Given the description of an element on the screen output the (x, y) to click on. 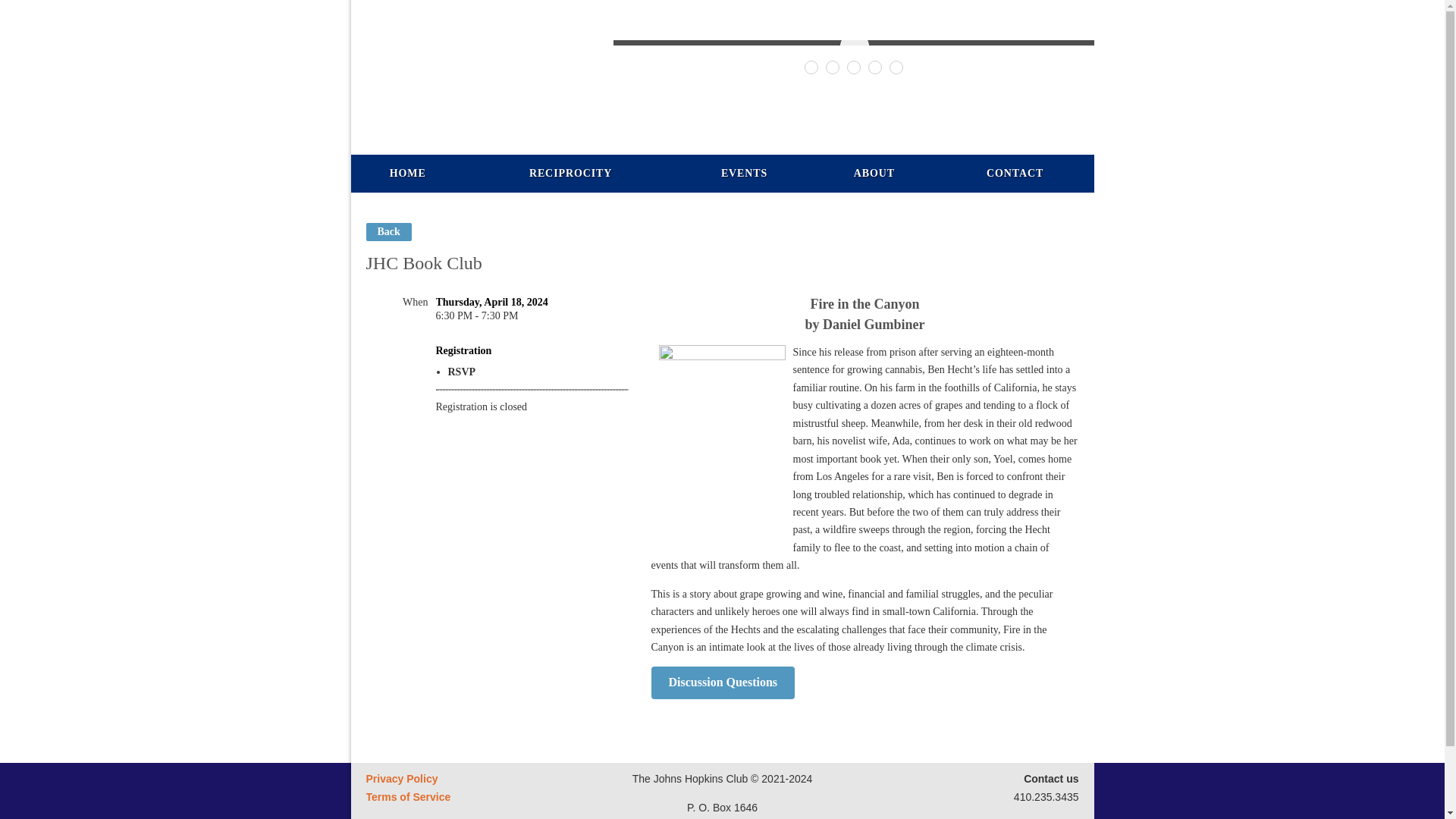
Discussion Questions (722, 682)
HOME (407, 173)
About (874, 173)
Home (407, 173)
ABOUT (874, 173)
Contact (1015, 173)
Reciprocity (570, 173)
Events (744, 173)
RECIPROCITY (570, 173)
CONTACT (1015, 173)
EVENTS (744, 173)
Privacy Policy (401, 778)
Back (387, 231)
Terms of Service (407, 797)
